Given the description of an element on the screen output the (x, y) to click on. 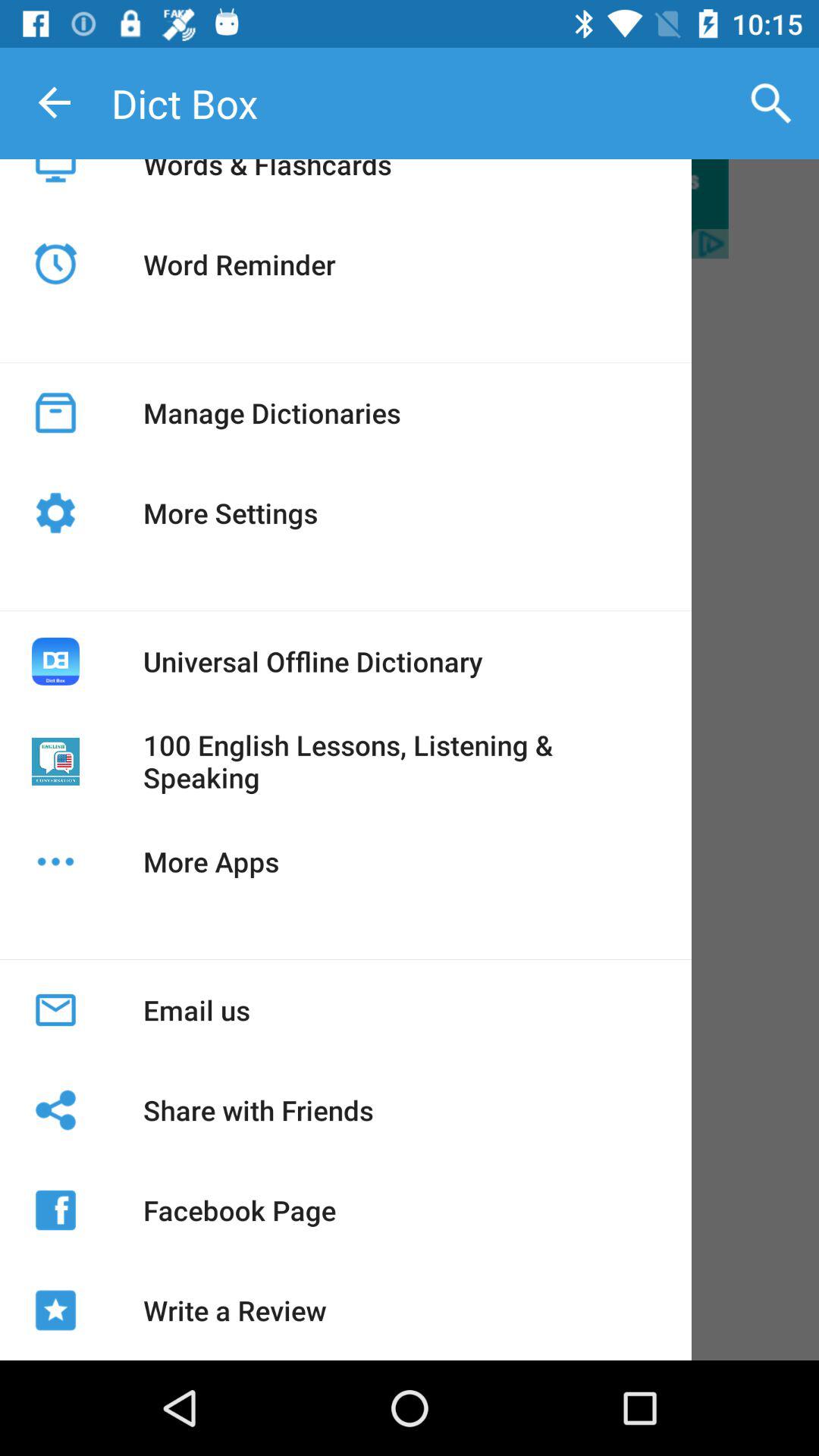
tap the app above word reminder icon (267, 181)
